Given the description of an element on the screen output the (x, y) to click on. 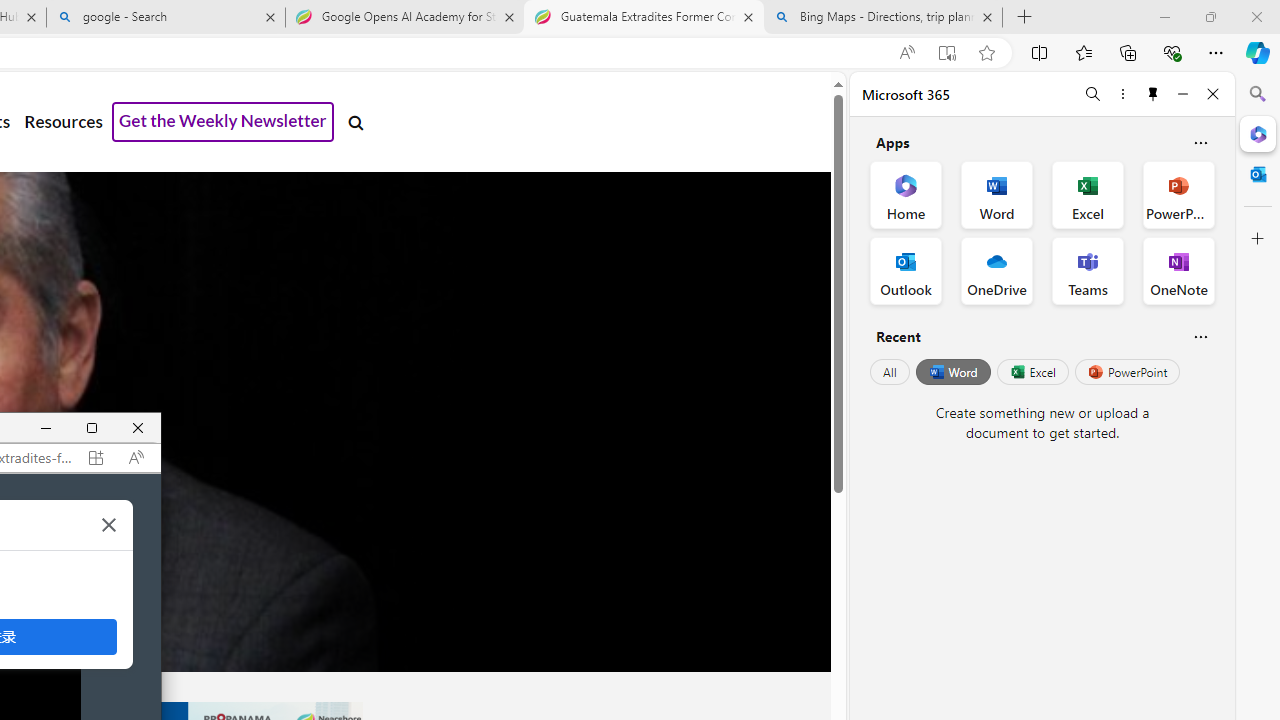
Is this helpful? (1200, 336)
Resources (63, 121)
Word (952, 372)
Home Office App (906, 194)
Resources (63, 121)
Excel Office App (1087, 194)
Google Opens AI Academy for Startups - Nearshore Americas (404, 17)
PowerPoint (1127, 372)
Word Office App (996, 194)
